Given the description of an element on the screen output the (x, y) to click on. 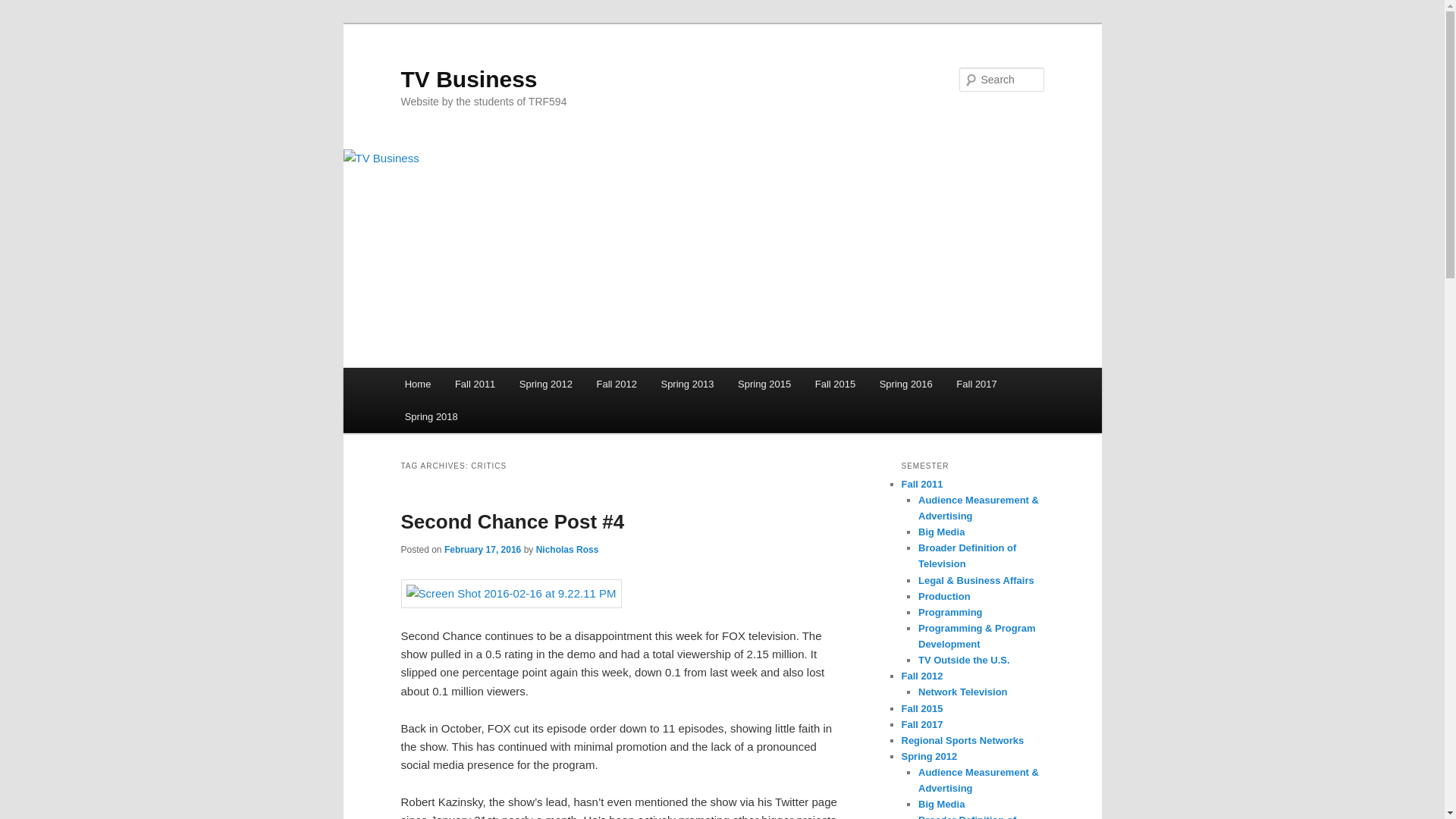
Home (417, 383)
Spring 2012 (545, 383)
2:22 am (482, 549)
Spring 2018 (431, 416)
Fall 2017 (976, 383)
Spring 2013 (687, 383)
February 17, 2016 (482, 549)
Search (24, 8)
View all posts by Nicholas Ross (566, 549)
Fall 2011 (474, 383)
Spring 2016 (905, 383)
TV Business (468, 78)
Fall 2015 (835, 383)
Nicholas Ross (566, 549)
